Given the description of an element on the screen output the (x, y) to click on. 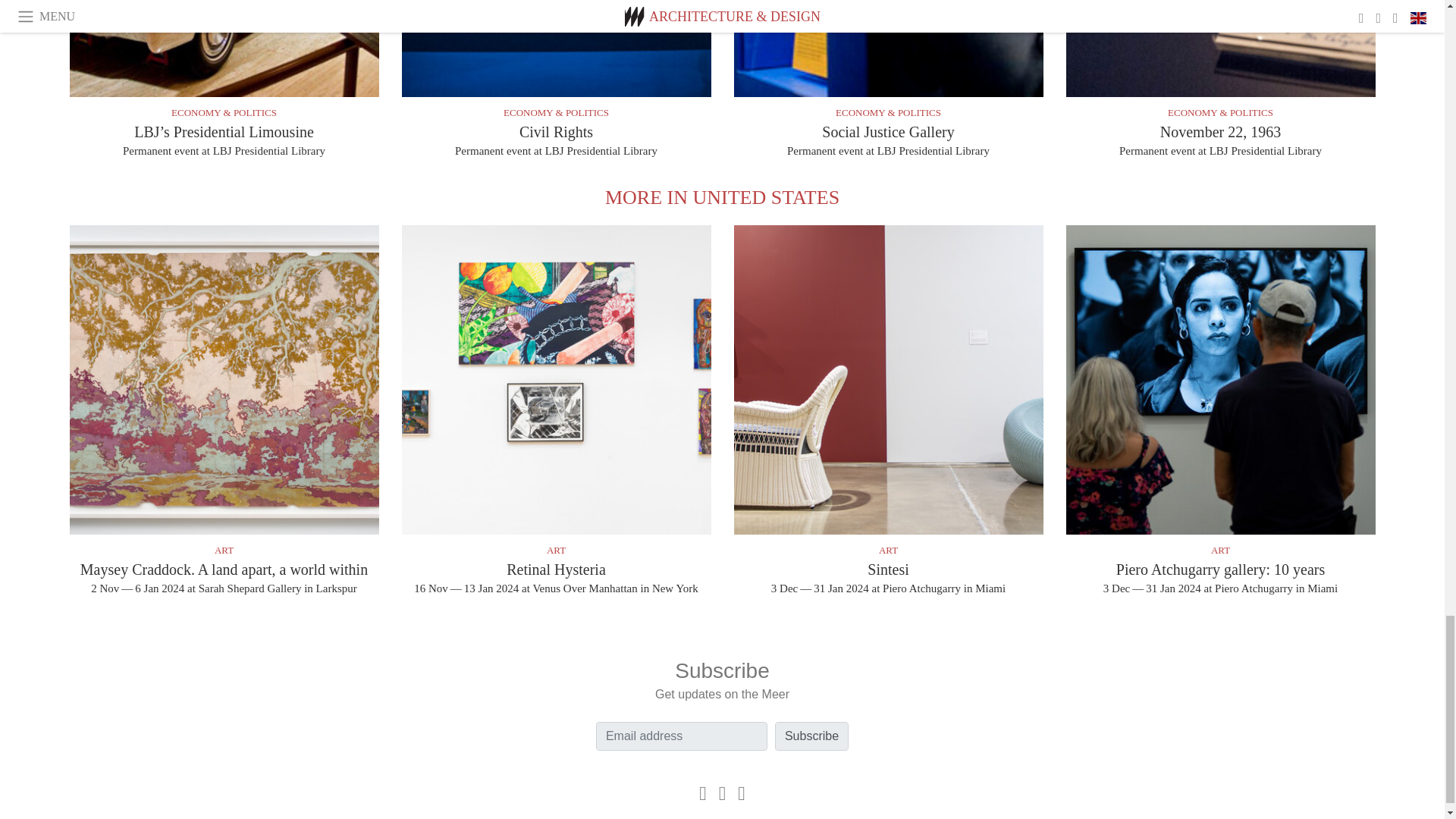
Subscribe (811, 736)
